Given the description of an element on the screen output the (x, y) to click on. 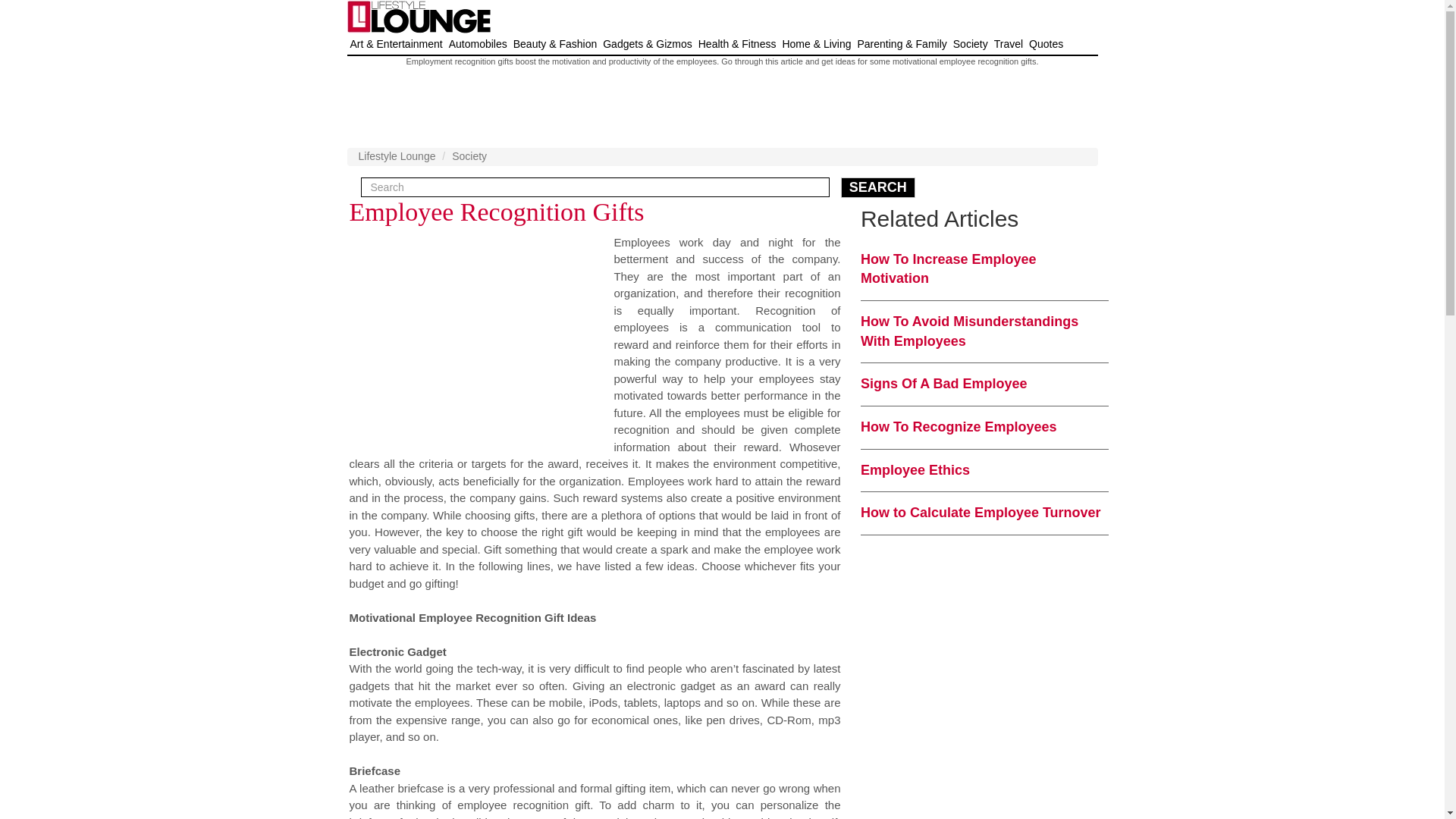
How to Calculate Employee Turnover (980, 512)
SEARCH (878, 188)
Employee Ethics (914, 469)
Automobiles (478, 43)
How To Increase Employee Motivation (948, 268)
Quotes (1045, 43)
How To Recognize Employees (958, 426)
Lifestyle Lounge (396, 155)
Society (468, 155)
Signs Of A Bad Employee (943, 383)
